Given the description of an element on the screen output the (x, y) to click on. 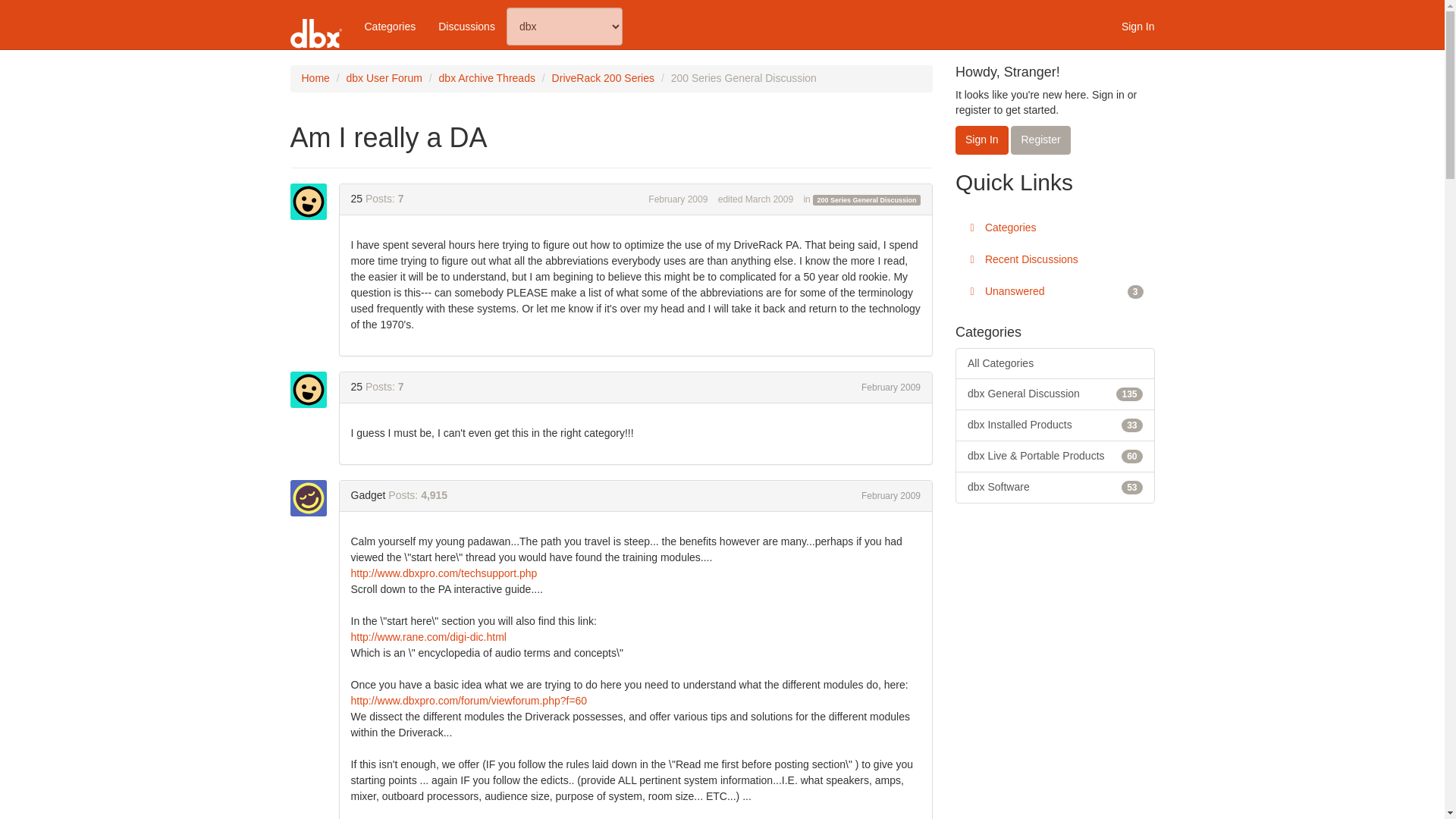
Edited March 1, 2009 12:17PM. (755, 199)
February 19, 2009 11:13PM (677, 199)
DriveRack 200 Series (602, 78)
Gadget (311, 497)
Discussions (466, 26)
Gadget (367, 494)
February 20, 2009 12:59AM (890, 495)
February 2009 (890, 387)
February 19, 2009 11:16PM (890, 387)
25 (311, 201)
